Given the description of an element on the screen output the (x, y) to click on. 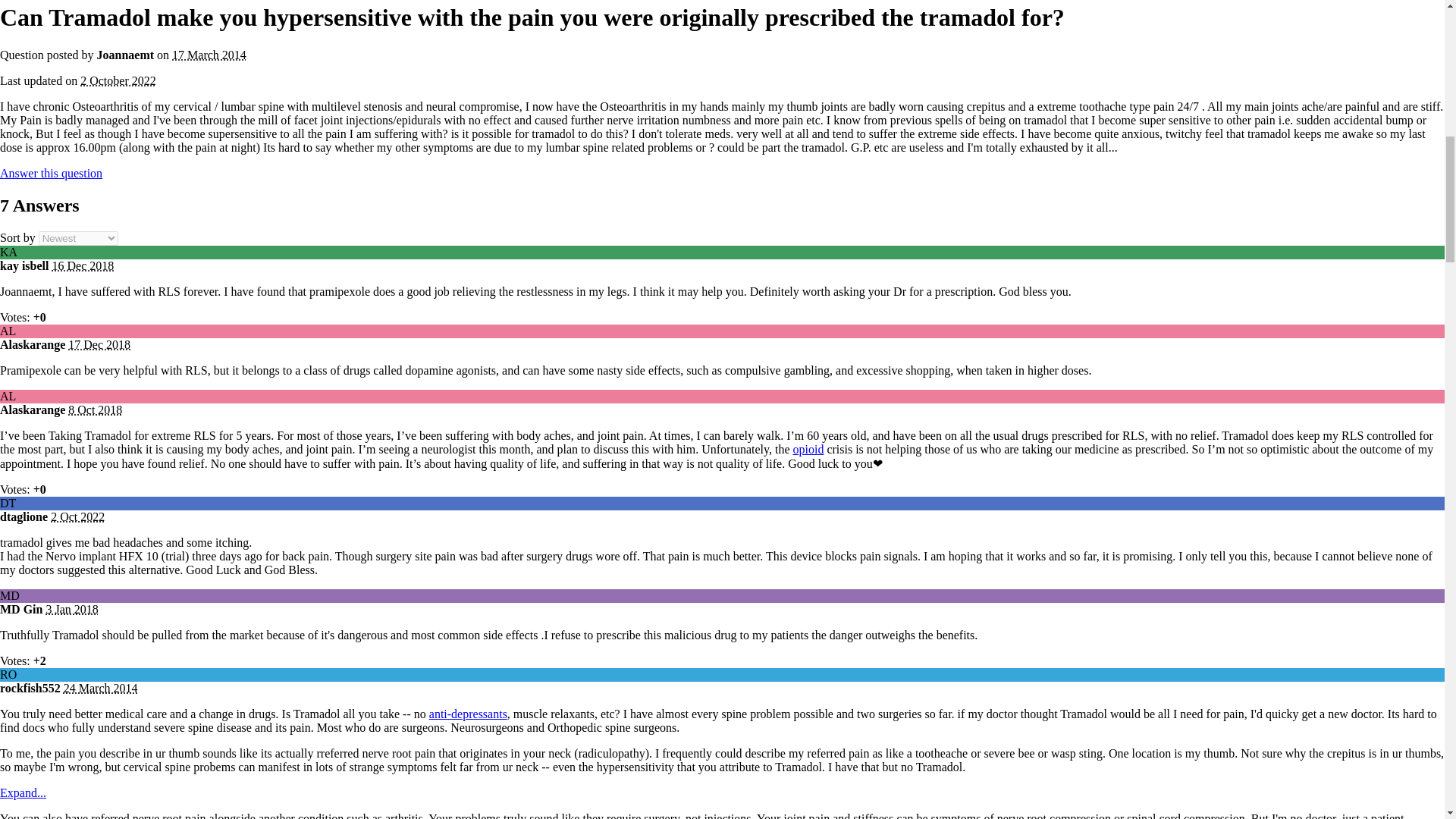
3 January 2018 9:58am (71, 608)
17 December 2018 10:22am (99, 344)
16 December 2018 6:12pm (81, 265)
2 October 2022 3:11pm (77, 516)
24 March 2014 6:23am (101, 687)
2 October 2022 3:11pm (117, 80)
8 October 2018 4:45pm (95, 409)
17 March 2014 6:42am (208, 54)
